Given the description of an element on the screen output the (x, y) to click on. 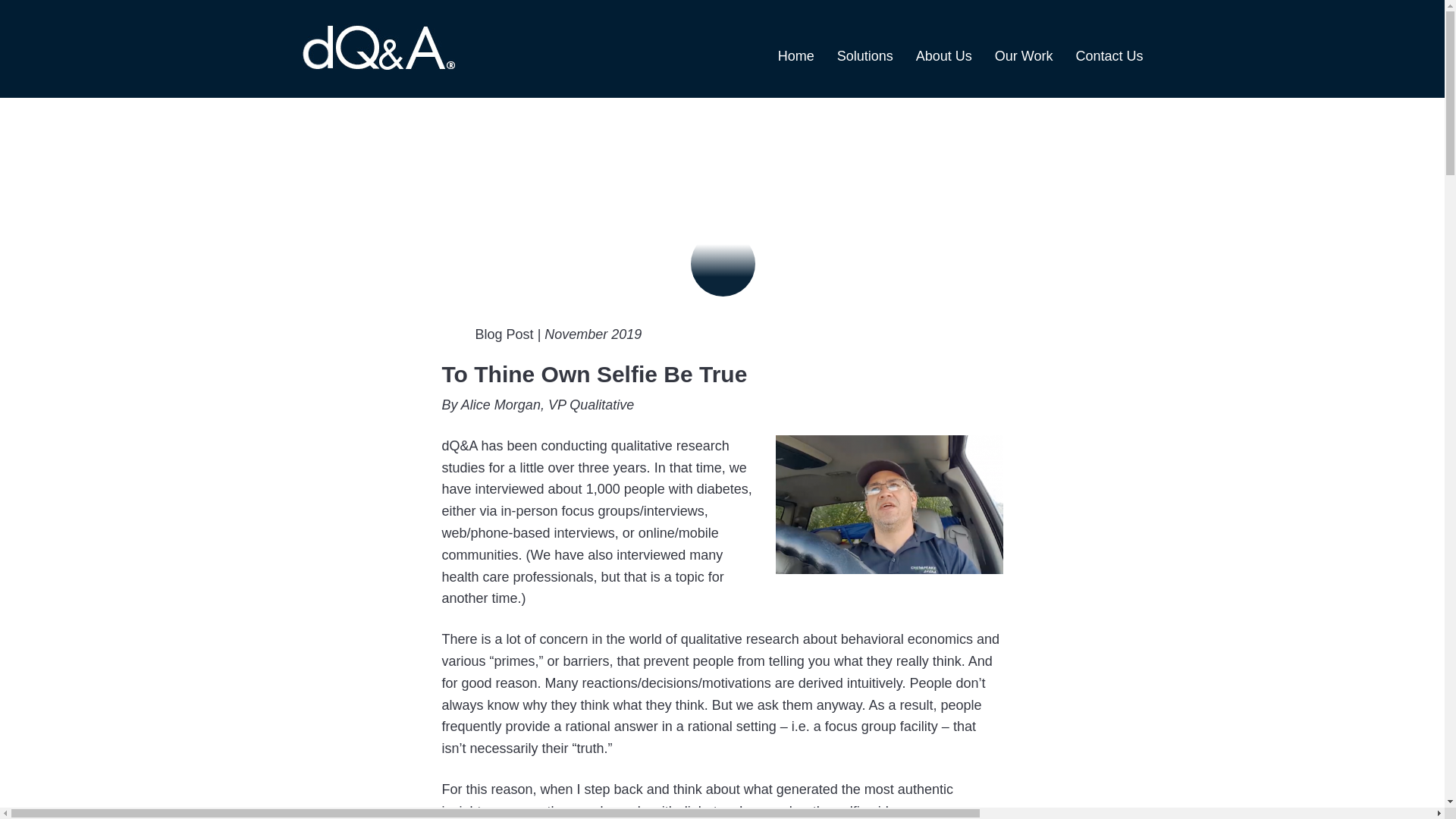
Solutions (865, 56)
Home (795, 56)
About Us (943, 56)
Contact Us (1108, 56)
Our Work (1023, 56)
